Given the description of an element on the screen output the (x, y) to click on. 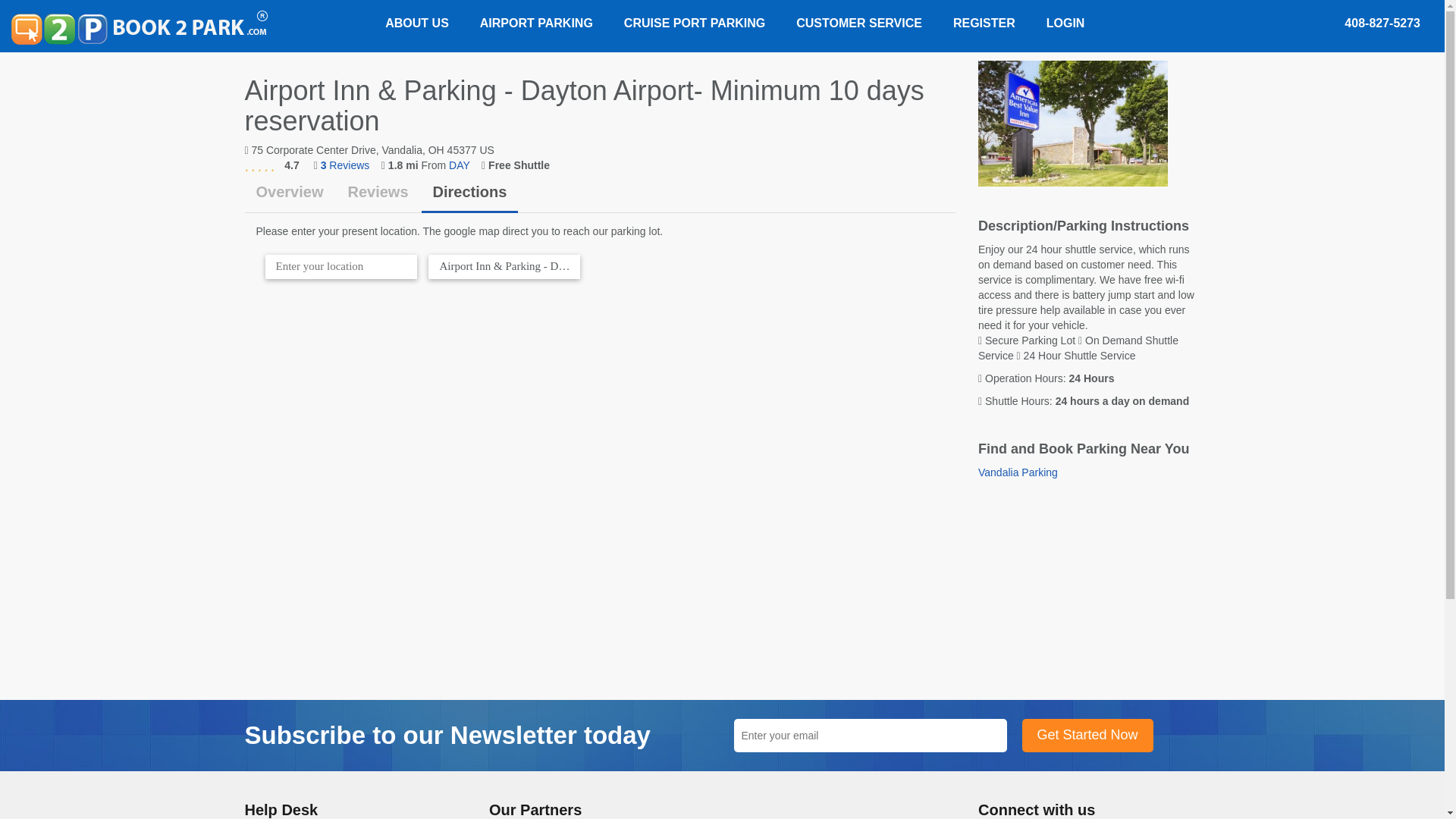
CUSTOMER SERVICE (855, 23)
REGISTER (980, 23)
DAY (459, 164)
LOGIN (1062, 23)
Reviews (377, 192)
Get Started Now (1087, 735)
ABOUT US (416, 23)
Dayton International Airport (459, 164)
The smart way to reserve discounted parking (139, 27)
AIRPORT PARKING (533, 23)
Overview (289, 192)
3 Reviews (344, 164)
Get Started Now (1087, 735)
Directions (470, 192)
